Given the description of an element on the screen output the (x, y) to click on. 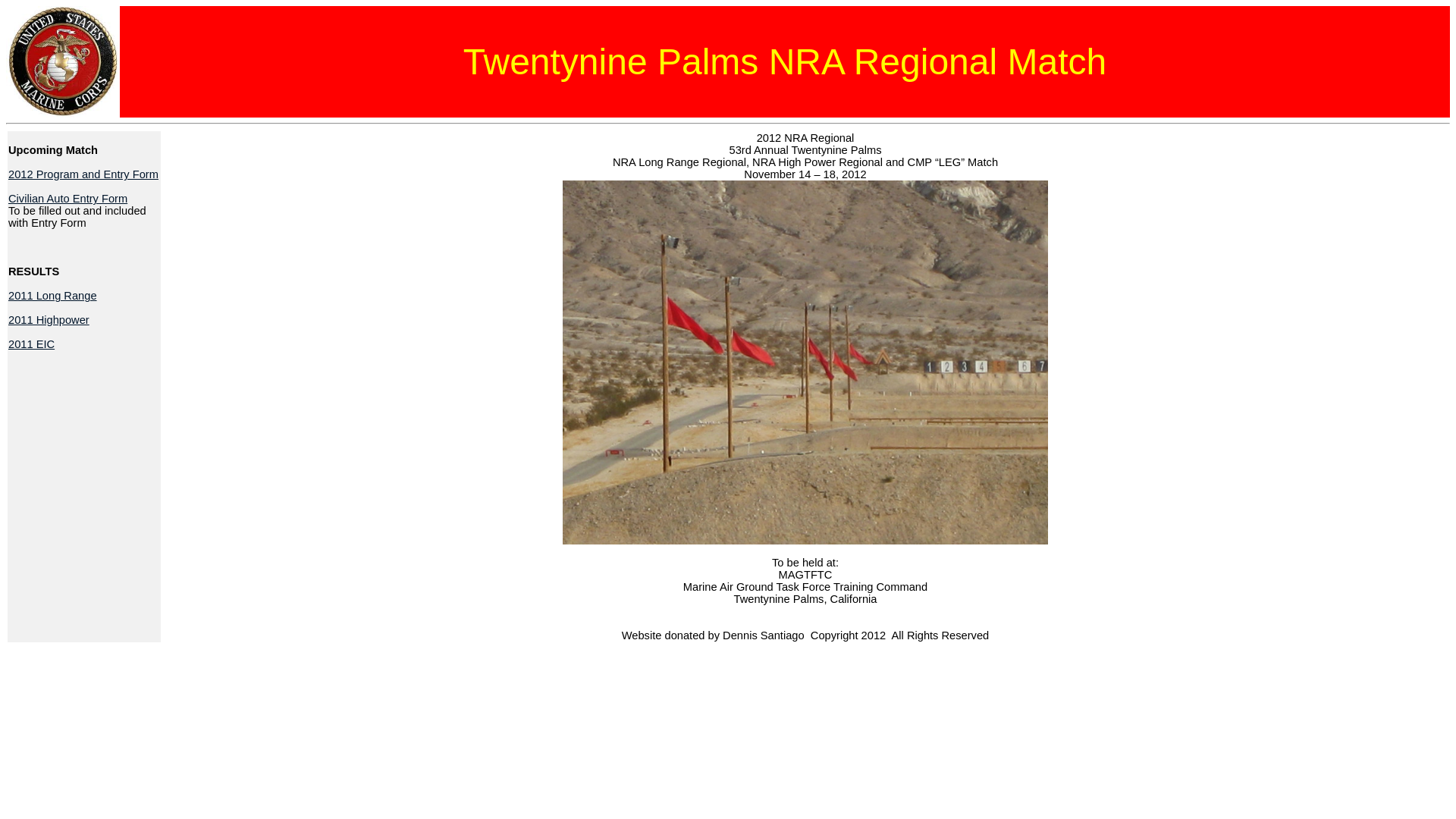
Civilian Auto Entry Form Element type: text (67, 198)
2011 EIC Element type: text (31, 344)
2012 Program and Entry Form Element type: text (83, 174)
2011 Highpower Element type: text (48, 319)
2011 Long Range Element type: text (52, 295)
